Given the description of an element on the screen output the (x, y) to click on. 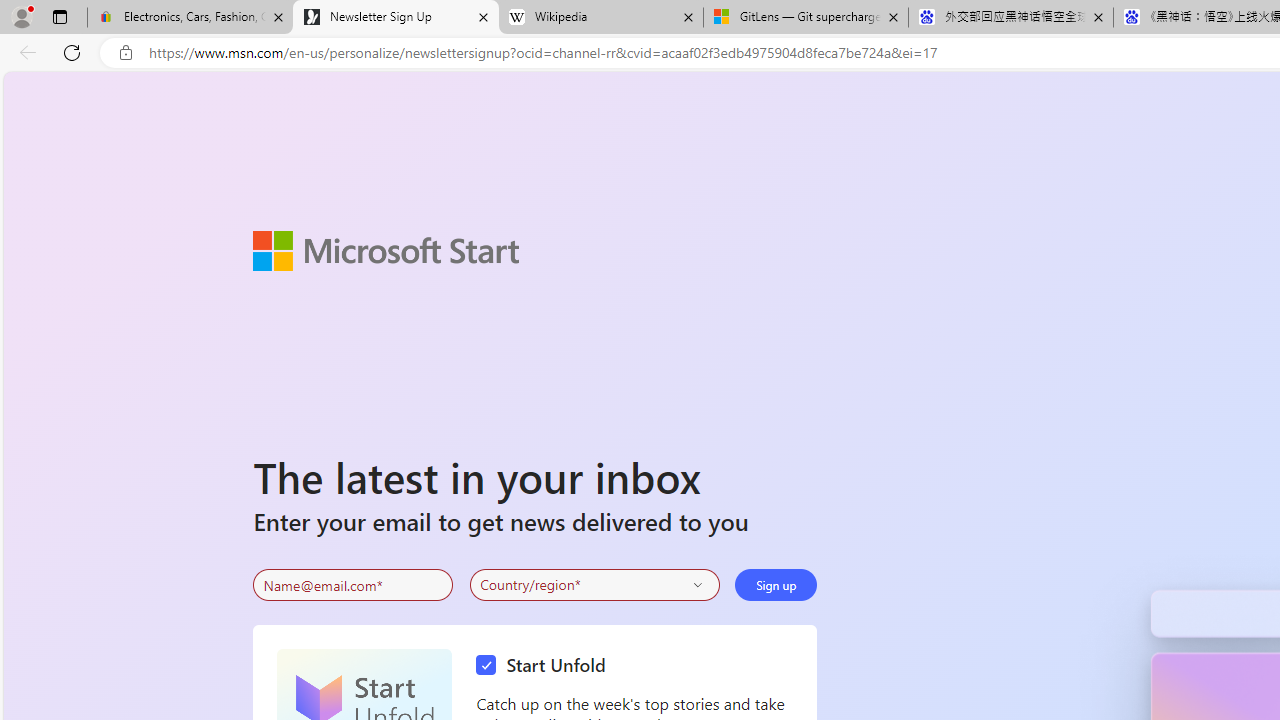
Newsletter Sign Up (395, 17)
Wikipedia (600, 17)
Microsoft Start (385, 249)
Enter your email (353, 585)
Select your country (594, 584)
Sign up (775, 584)
Start Unfold (545, 665)
